Given the description of an element on the screen output the (x, y) to click on. 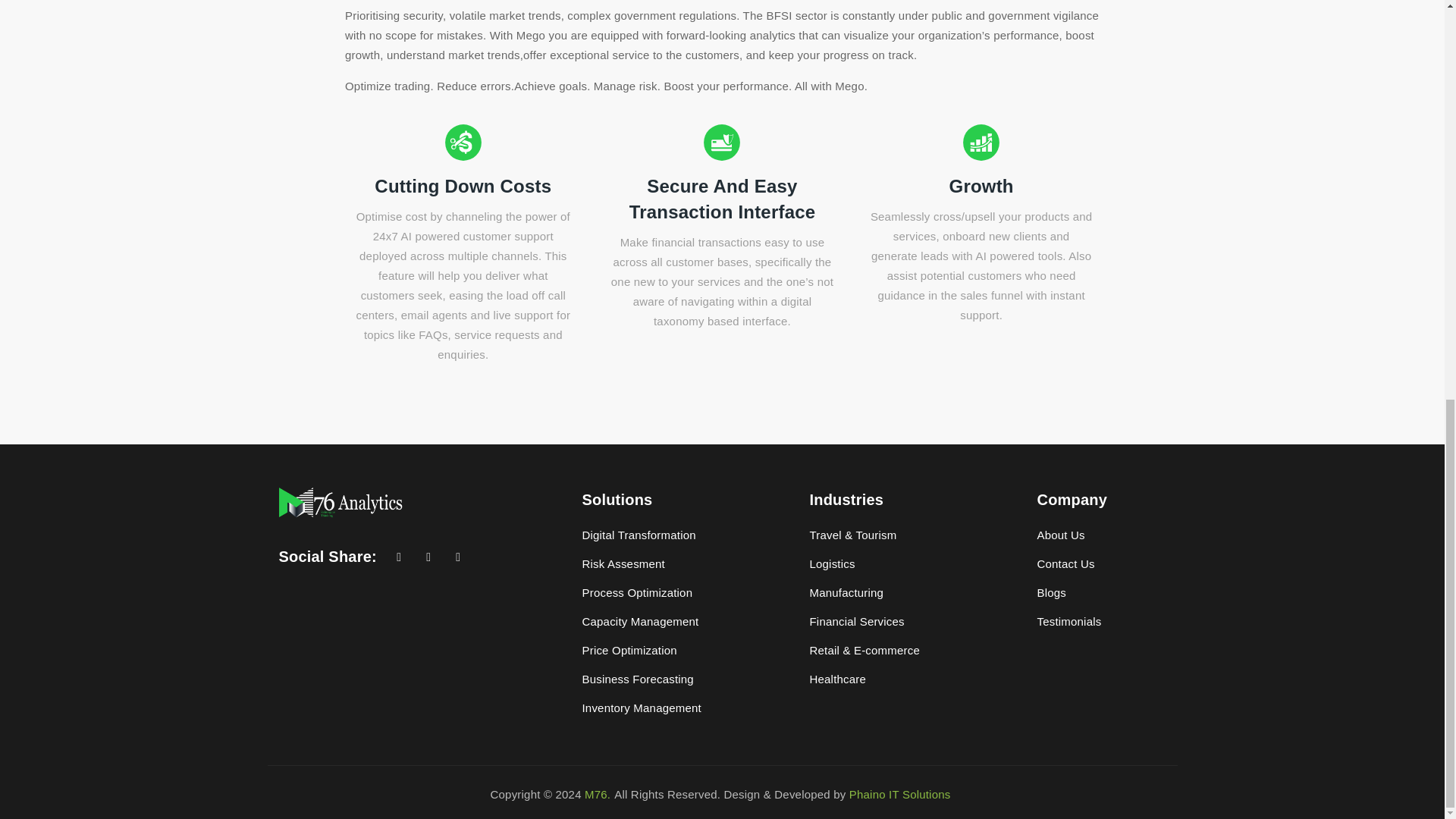
Digital Transformation (637, 534)
